Given the description of an element on the screen output the (x, y) to click on. 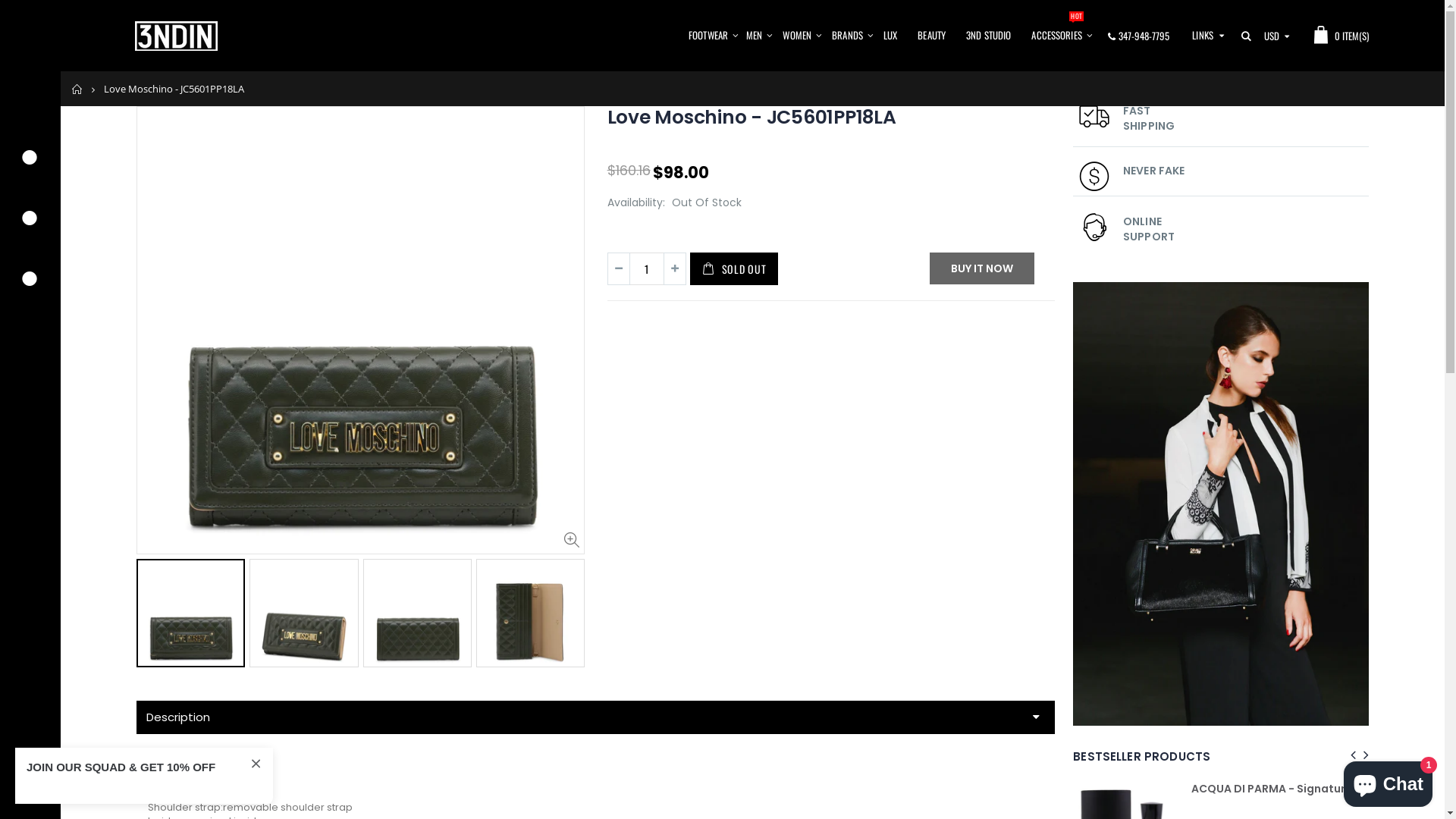
Adjustable Ruched Front Detail Mini Dress Element type: text (989, 788)
347-948-7795 Element type: text (1143, 34)
LUX Element type: text (890, 35)
Home Element type: text (77, 89)
3ND STUDIO Element type: text (988, 35)
Adjustable Ruched Front Detail Mini Dress Element type: text (1116, 788)
LINKS Element type: text (1203, 34)
ACCESSORIES
HOT Element type: text (1056, 35)
BRANDS Element type: text (847, 35)
BUY IT NOW Element type: text (981, 268)
Shopify online store chat Element type: hover (1388, 780)
Description Element type: text (595, 717)
0ITEM(S) Element type: text (1337, 35)
USD Element type: text (1275, 35)
WOMEN Element type: text (796, 35)
MEN Element type: text (754, 35)
SOLD OUT Element type: text (734, 268)
Love Moschino - JC5601PP18LA Element type: text (751, 116)
FOOTWEAR Element type: text (708, 35)
BEAUTY Element type: text (931, 35)
